Given the description of an element on the screen output the (x, y) to click on. 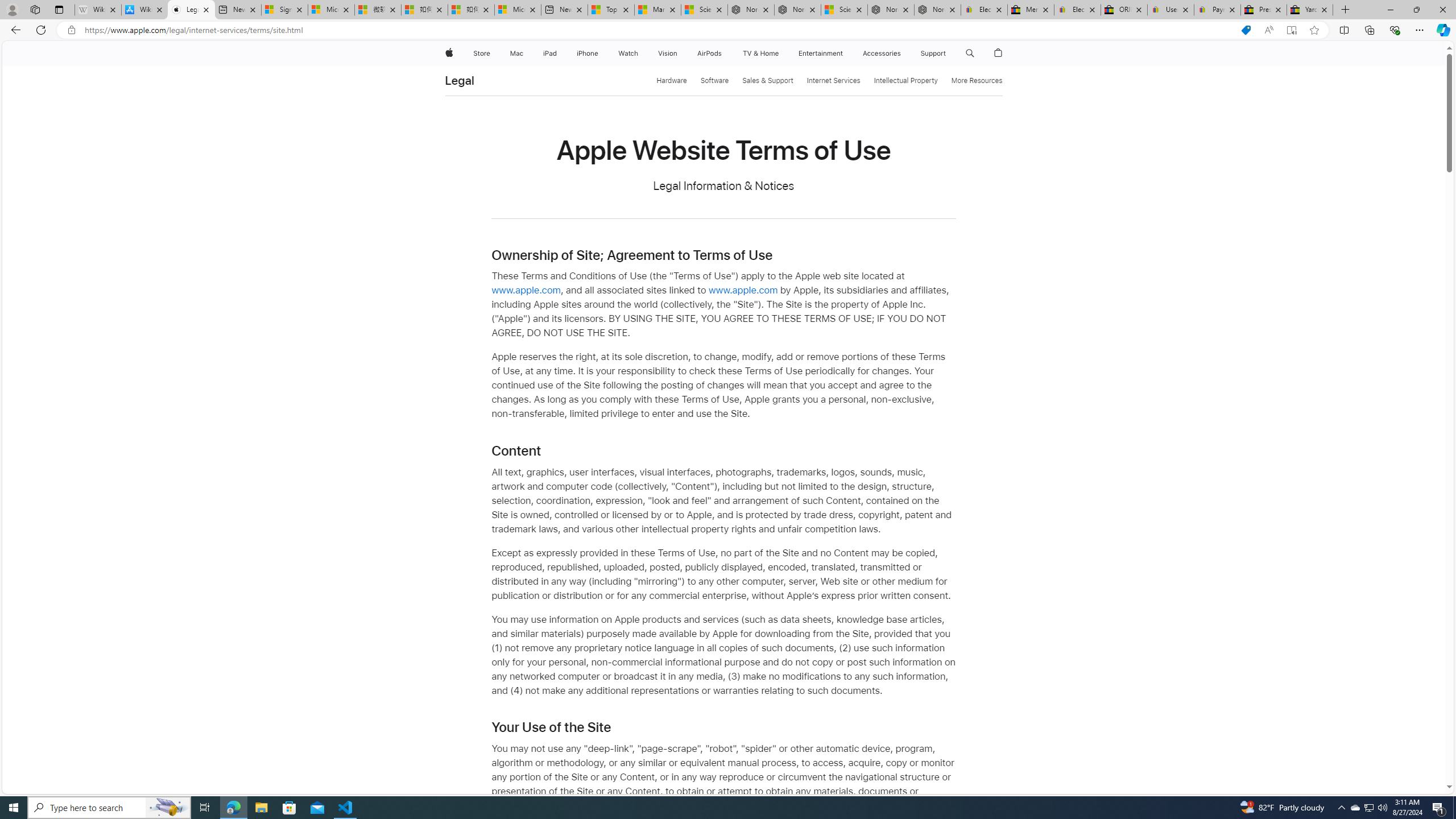
iPhone (587, 53)
More Resources (976, 80)
Vision (667, 53)
TV and Home (759, 53)
TV and Home menu (780, 53)
Nordace - FAQ (937, 9)
Hardware (671, 80)
Support menu (948, 53)
